Given the description of an element on the screen output the (x, y) to click on. 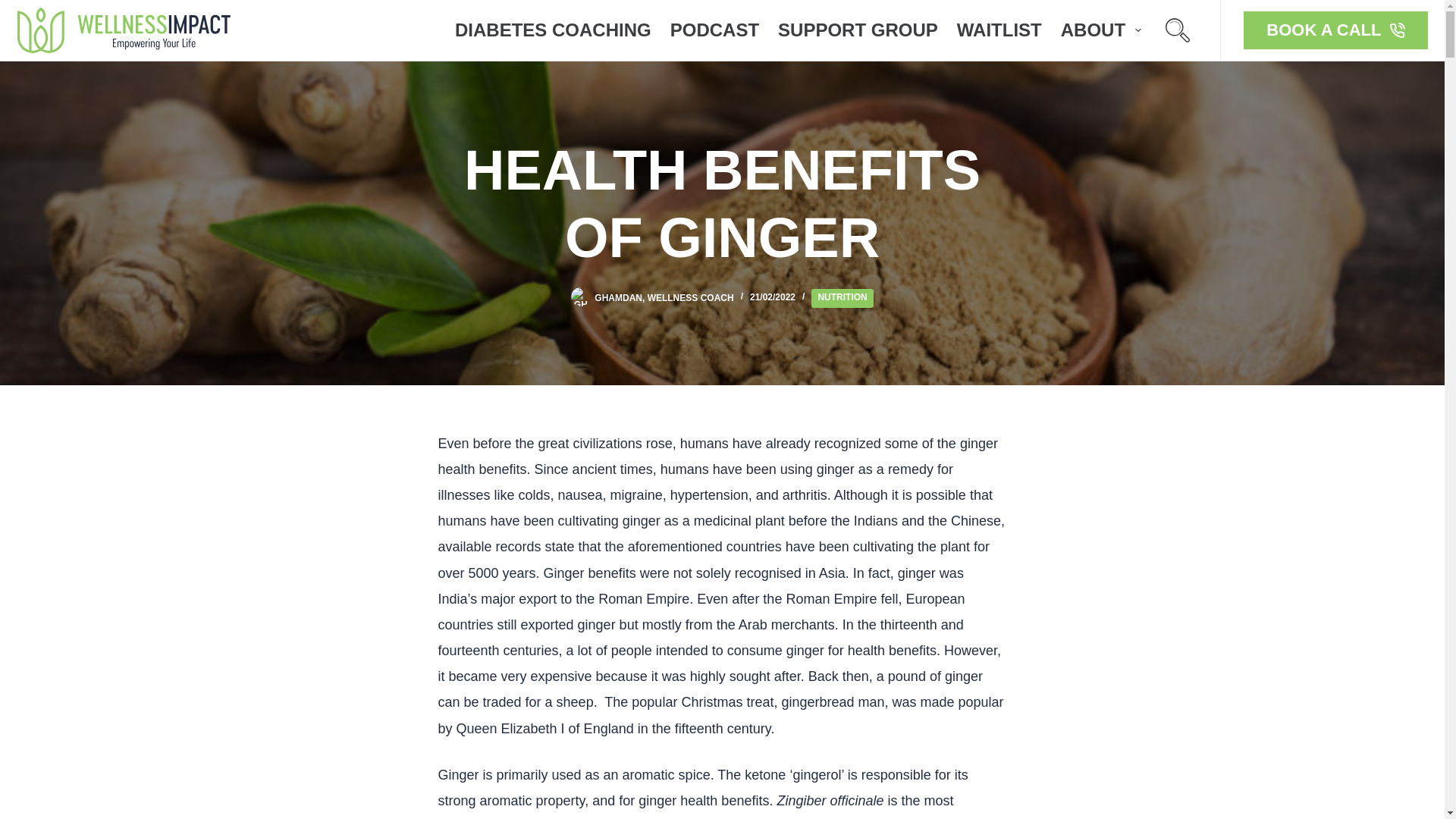
Health Benefits Of Ginger (722, 204)
Skip to content (15, 7)
ABOUT (1100, 30)
BOOK A CALL (1334, 30)
Posts by Ghamdan, Wellness Coach (663, 296)
WAITLIST (999, 30)
PODCAST (714, 30)
NUTRITION (841, 298)
GHAMDAN, WELLNESS COACH (663, 296)
DIABETES COACHING (553, 30)
